Given the description of an element on the screen output the (x, y) to click on. 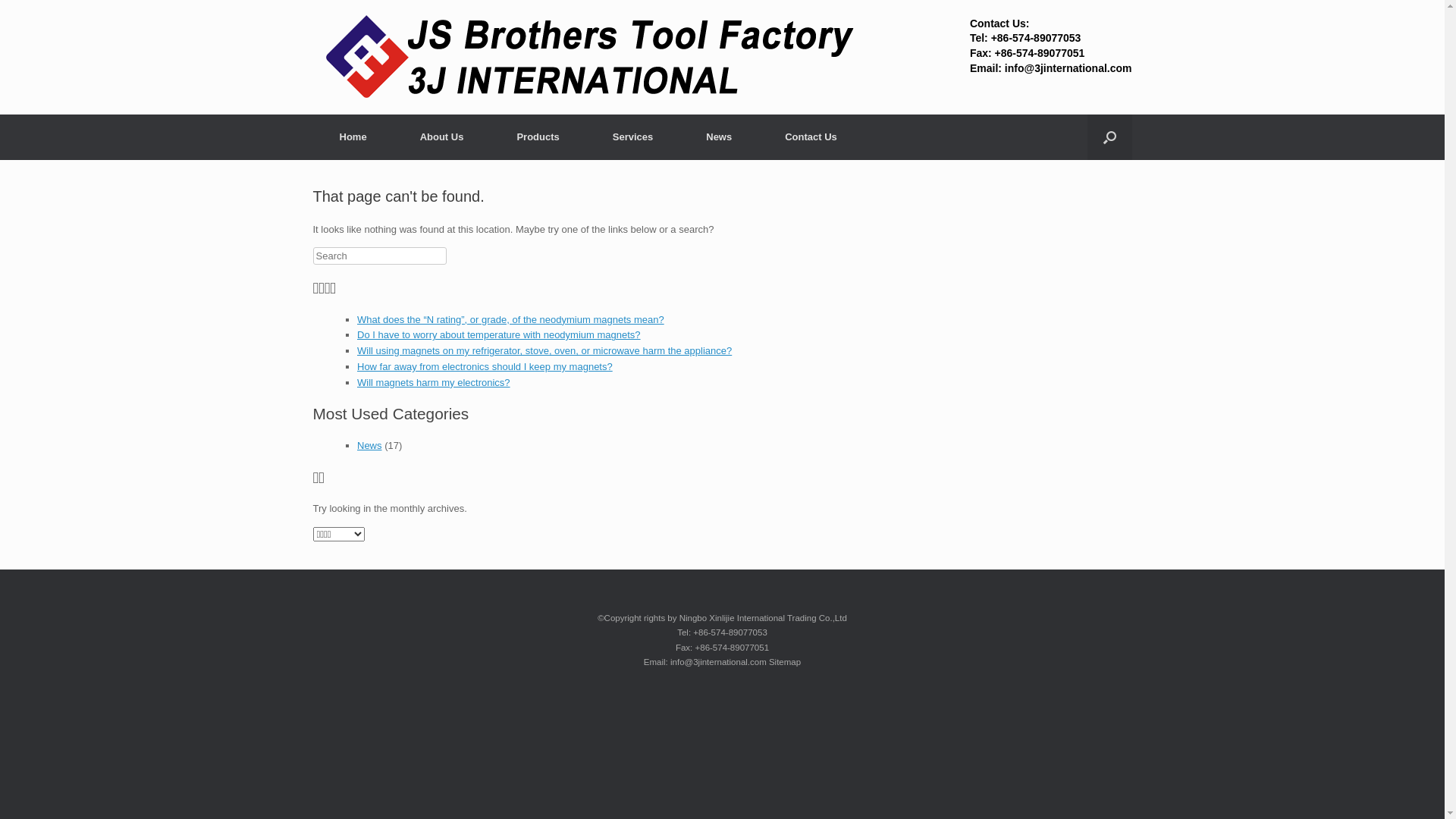
Will magnets harm my electronics? Element type: text (433, 382)
Search Element type: text (31, 14)
Products Element type: text (537, 137)
Home Element type: text (352, 137)
News Element type: text (718, 137)
How far away from electronics should I keep my magnets? Element type: text (484, 366)
Contact Us Element type: text (810, 137)
About Us Element type: text (441, 137)
News Element type: text (369, 445)
Ningbo Xinlijie International Trading Co.,Ltd Element type: hover (592, 57)
Services Element type: text (633, 137)
Do I have to worry about temperature with neodymium magnets? Element type: text (498, 334)
